Given the description of an element on the screen output the (x, y) to click on. 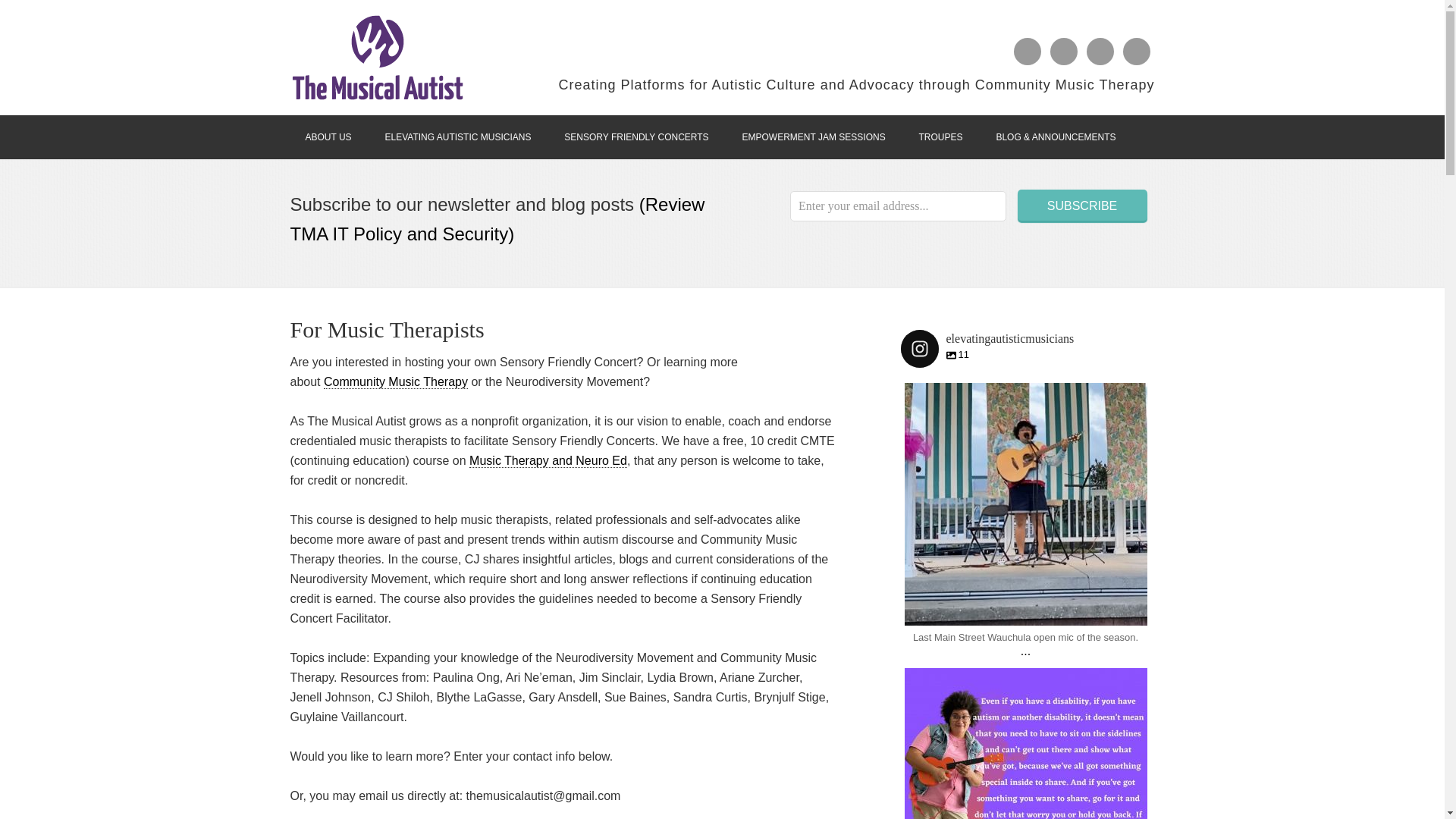
Music Therapy and Neuro Ed (547, 460)
EMPOWERMENT JAM SESSIONS (987, 348)
Community Music Therapy (812, 136)
THE MUSICAL AUTIST (395, 382)
TROUPES (376, 56)
Subscribe (941, 136)
ABOUT US (1082, 204)
ELEVATING AUTISTIC MUSICIANS (327, 136)
SENSORY FRIENDLY CONCERTS (458, 136)
Subscribe (635, 136)
